Given the description of an element on the screen output the (x, y) to click on. 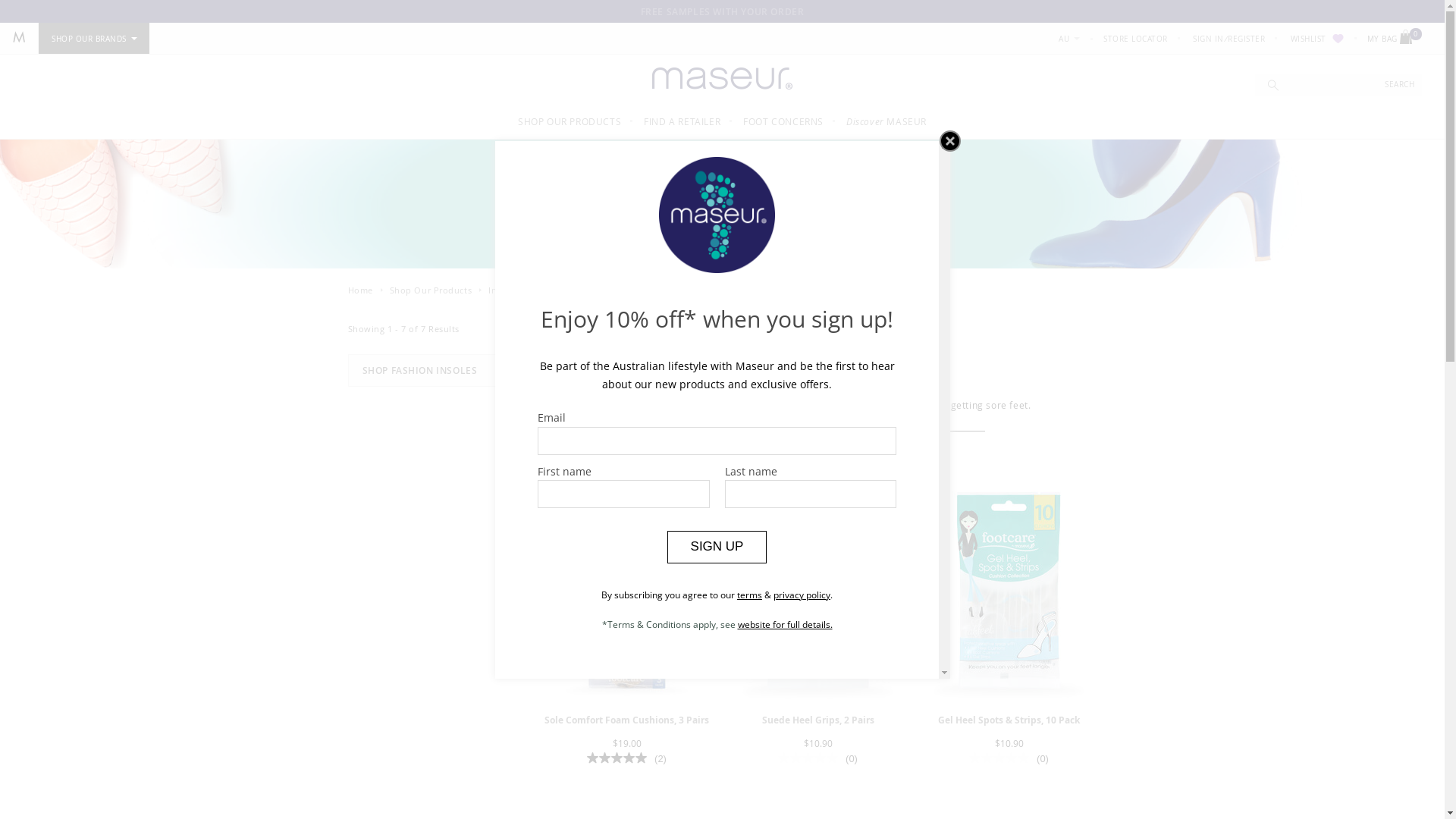
Sole Comfort Foam Cushions, 3 Pairs Element type: text (626, 719)
(0) Element type: text (817, 757)
WISHLIST Element type: text (1317, 39)
Suede Heel Grips, 2 Pairs Element type: text (817, 719)
STORE LOCATOR Element type: text (1135, 39)
Discover MASEUR Element type: text (886, 121)
(2) Element type: text (626, 757)
SHOP OUR BRANDS Element type: text (93, 39)
Suede Heel Grips, 2 pairs Element type: hover (817, 590)
Shop Our Products Element type: text (430, 290)
Sort By Price (High To Low) Element type: text (614, 329)
SEARCH Element type: text (1399, 84)
McPherson's  Element type: hover (18, 37)
SHOP OUR PRODUCTS Element type: text (569, 121)
FIND A RETAILER Element type: text (681, 121)
Home Element type: text (359, 290)
REGISTER Element type: text (1245, 39)
Gel Heel Spots & Strips, 10 Pack Element type: text (1008, 719)
SIGN IN Element type: text (1207, 39)
Sole Comfort Foam Cushions, 3 pairs Element type: hover (626, 590)
(0) Element type: text (1008, 757)
Insoles Element type: text (503, 290)
Gel Heel Spots & Strips, 10 pack Element type: hover (1008, 590)
FOOT CONCERNS Element type: text (783, 121)
AU Element type: text (1068, 39)
